Given the description of an element on the screen output the (x, y) to click on. 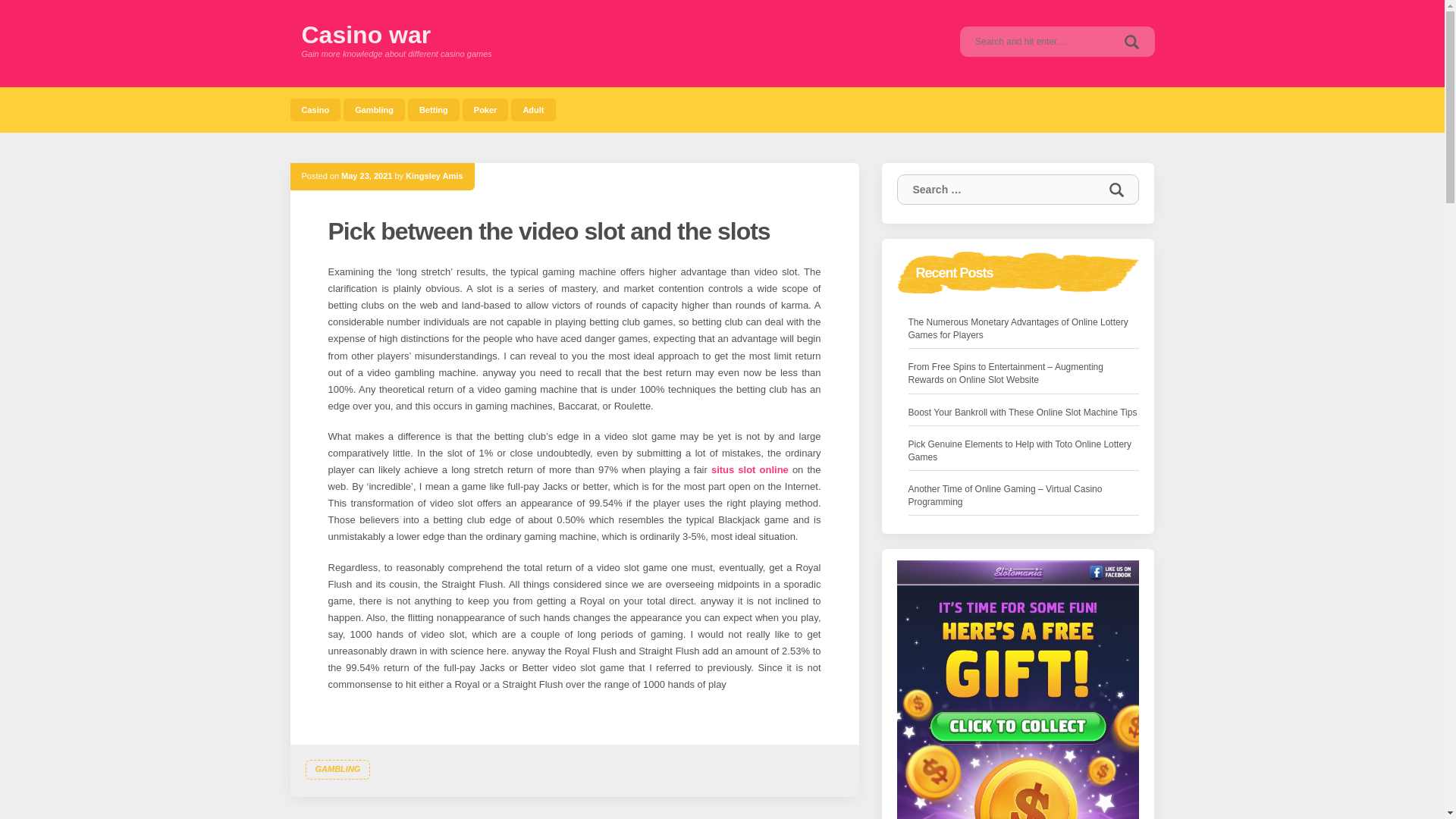
Adult (532, 109)
Kingsley Amis (434, 175)
Search (1115, 189)
Gambling (373, 109)
Casino (314, 109)
Search (1131, 41)
GAMBLING (336, 769)
Betting (433, 109)
Search (1131, 41)
